Given the description of an element on the screen output the (x, y) to click on. 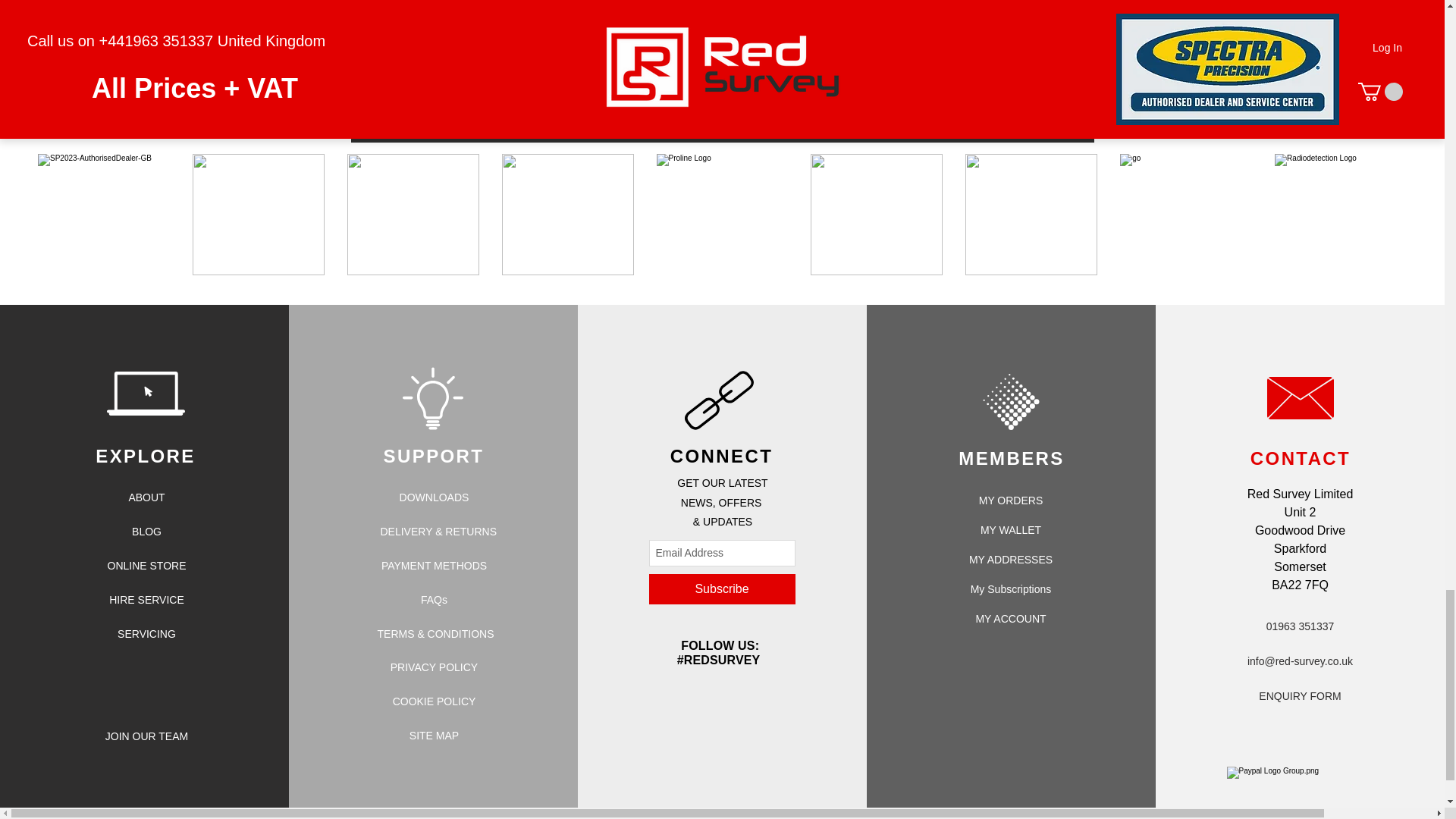
Send (988, 94)
